Given the description of an element on the screen output the (x, y) to click on. 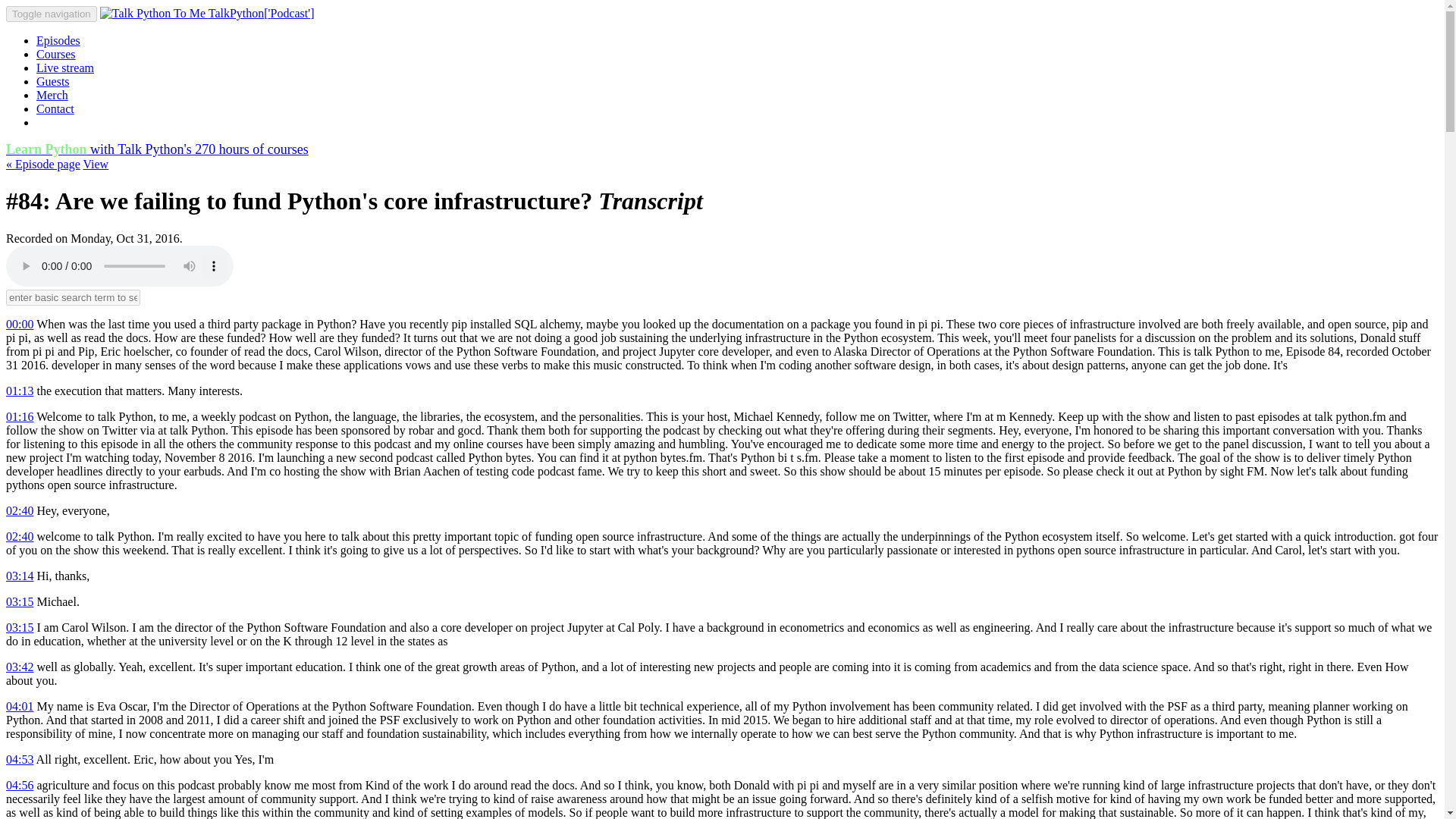
Play this episode at 01:16 (19, 416)
Merch (52, 94)
Send us an email. (55, 108)
03:15 (19, 601)
Guests (52, 81)
Play this episode at 02:40 (19, 510)
02:40 (19, 535)
Get a Talk Python To Me T-Shirt. (52, 94)
03:15 (19, 626)
Live stream (65, 67)
Take one of our world class Python courses. (55, 53)
03:14 (19, 575)
03:42 (19, 666)
See all our guests who have appeared on the show. (52, 81)
